Given the description of an element on the screen output the (x, y) to click on. 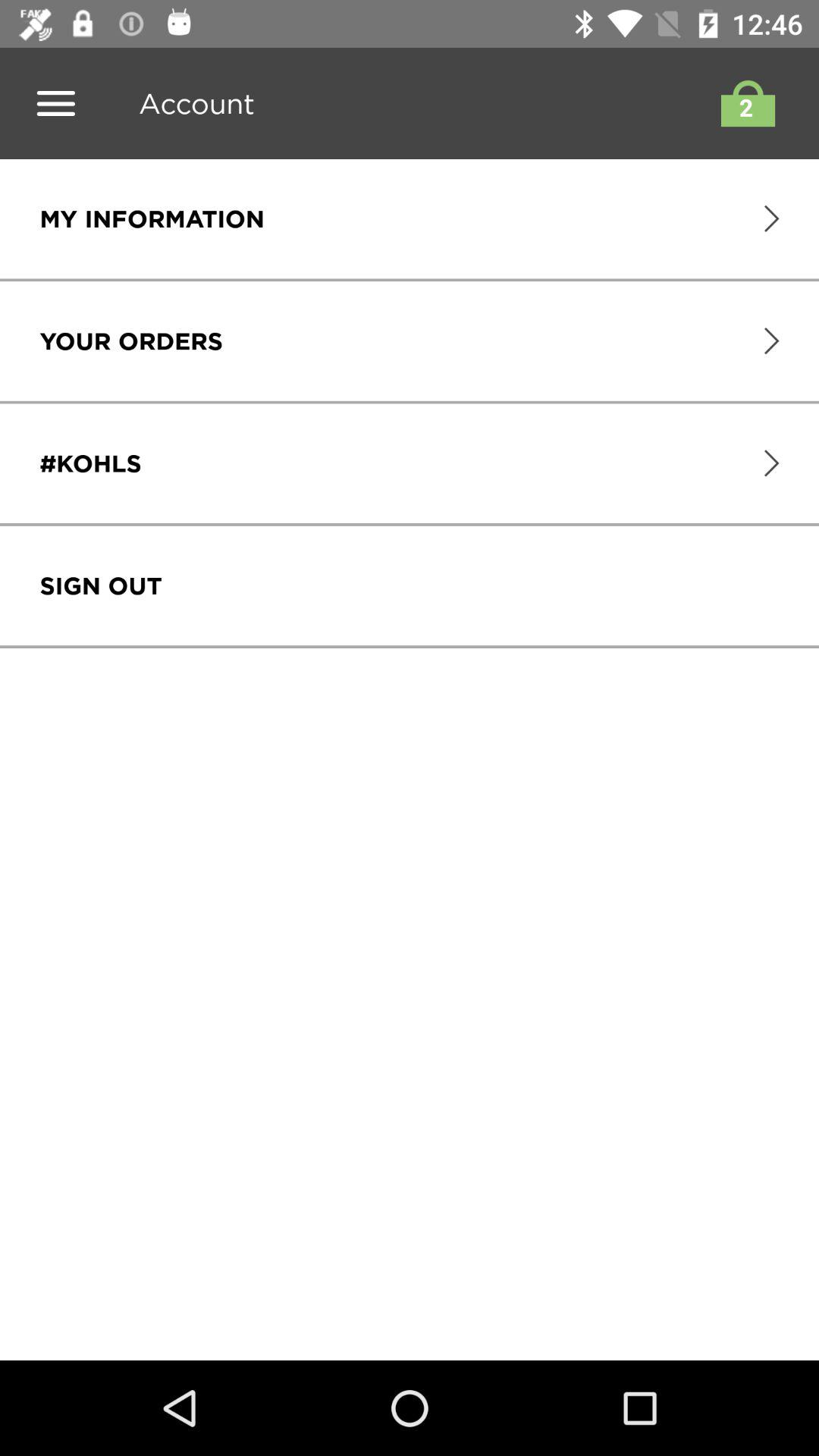
turn off icon above the sign out item (90, 463)
